Given the description of an element on the screen output the (x, y) to click on. 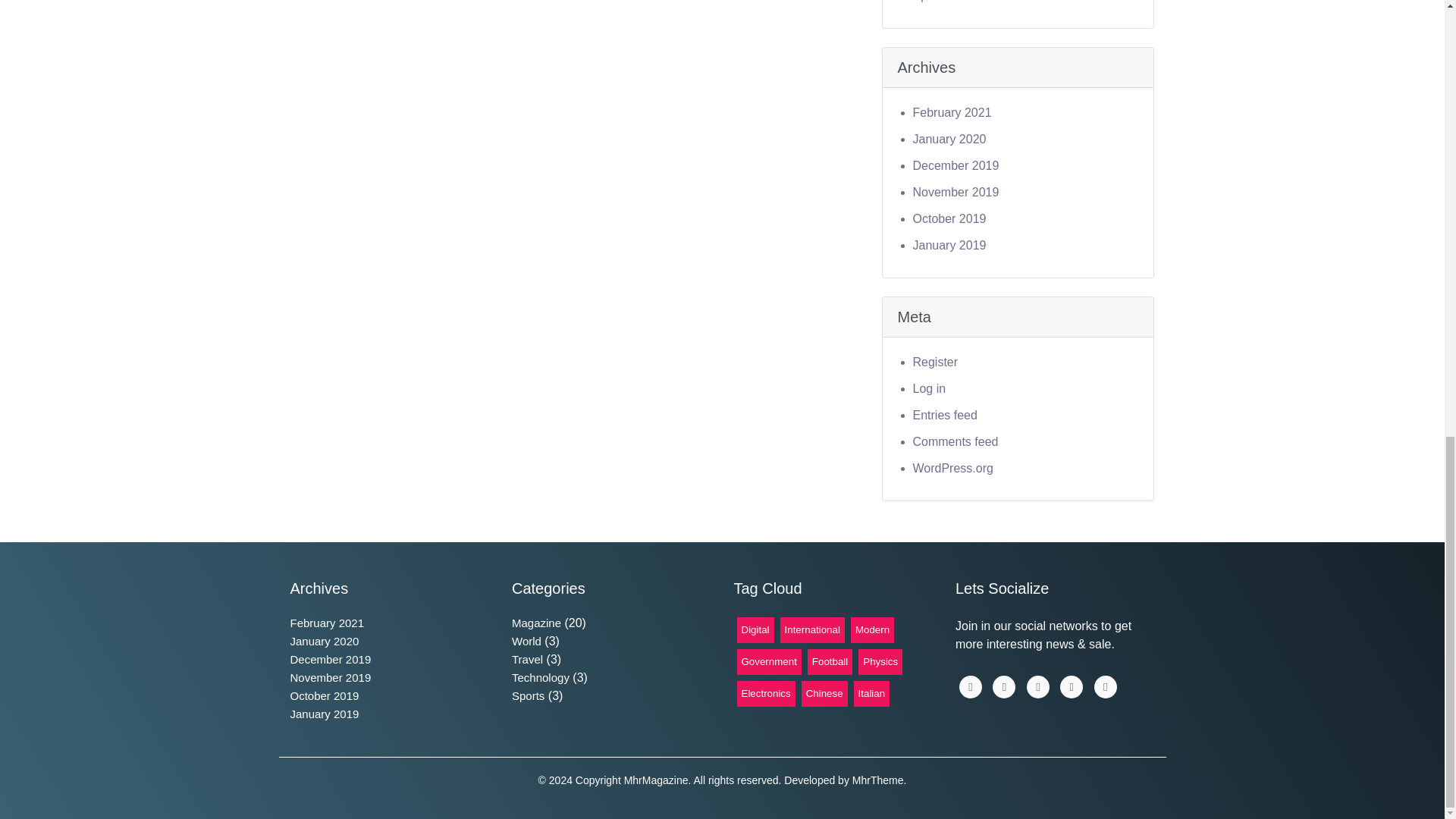
Facebook (970, 686)
Twiiter (1037, 686)
Linkedin (1003, 686)
